Given the description of an element on the screen output the (x, y) to click on. 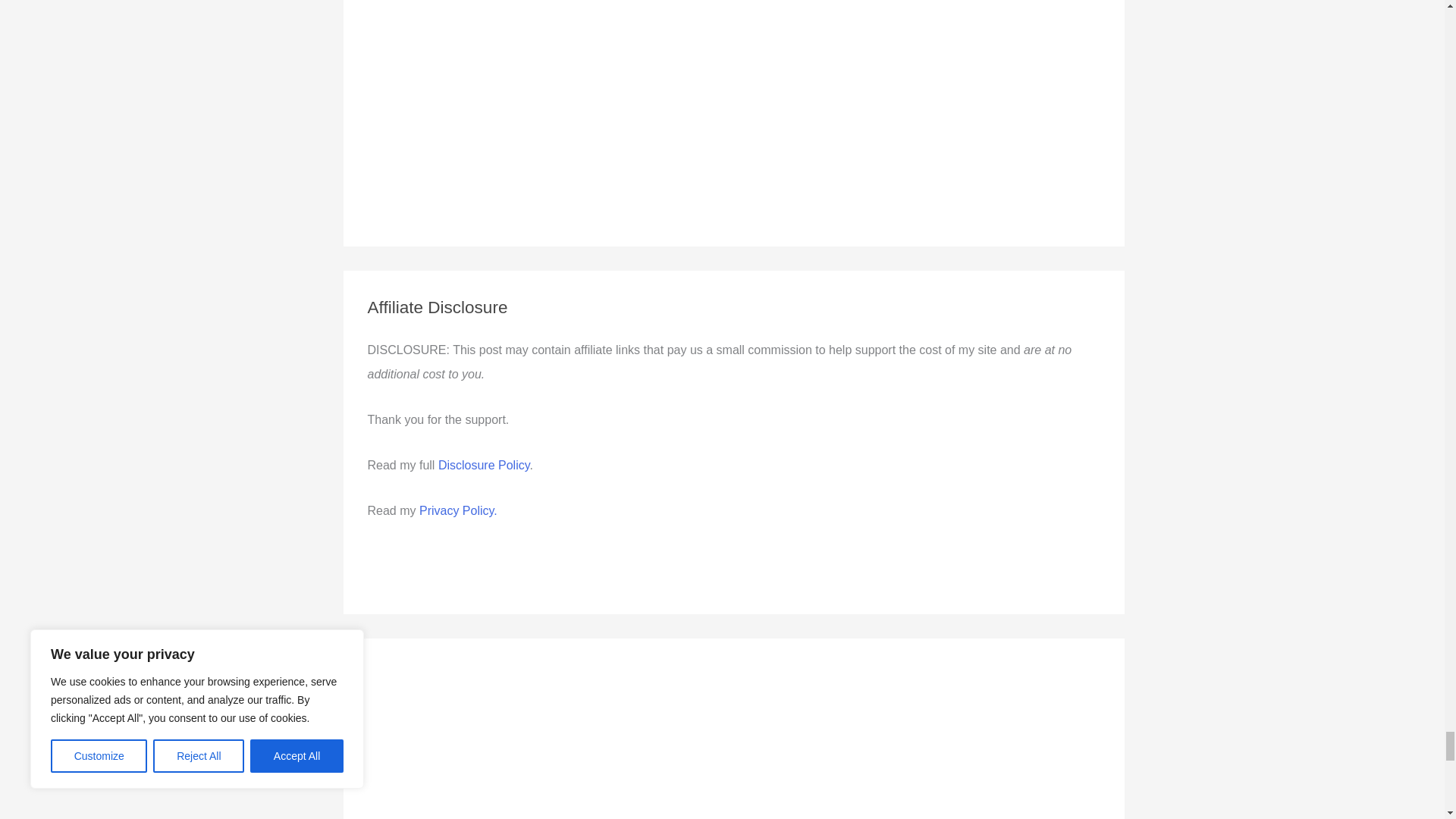
Advertisement (442, 740)
